Given the description of an element on the screen output the (x, y) to click on. 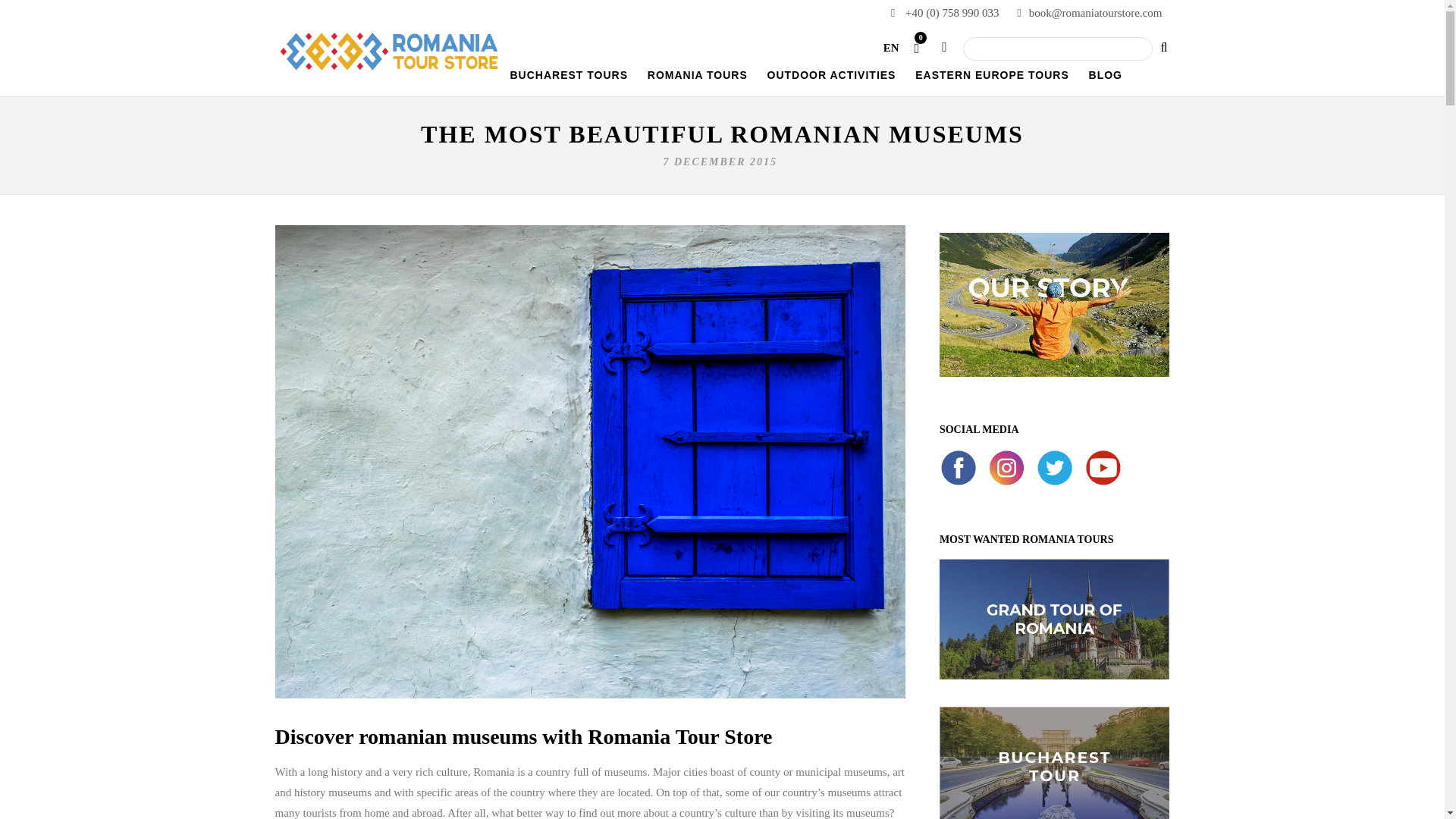
ROMANIA TOURS (697, 81)
OUTDOOR ACTIVITIES (832, 81)
BLOG (1105, 81)
EASTERN EUROPE TOURS (992, 81)
BUCHAREST TOURS (568, 81)
